Given the description of an element on the screen output the (x, y) to click on. 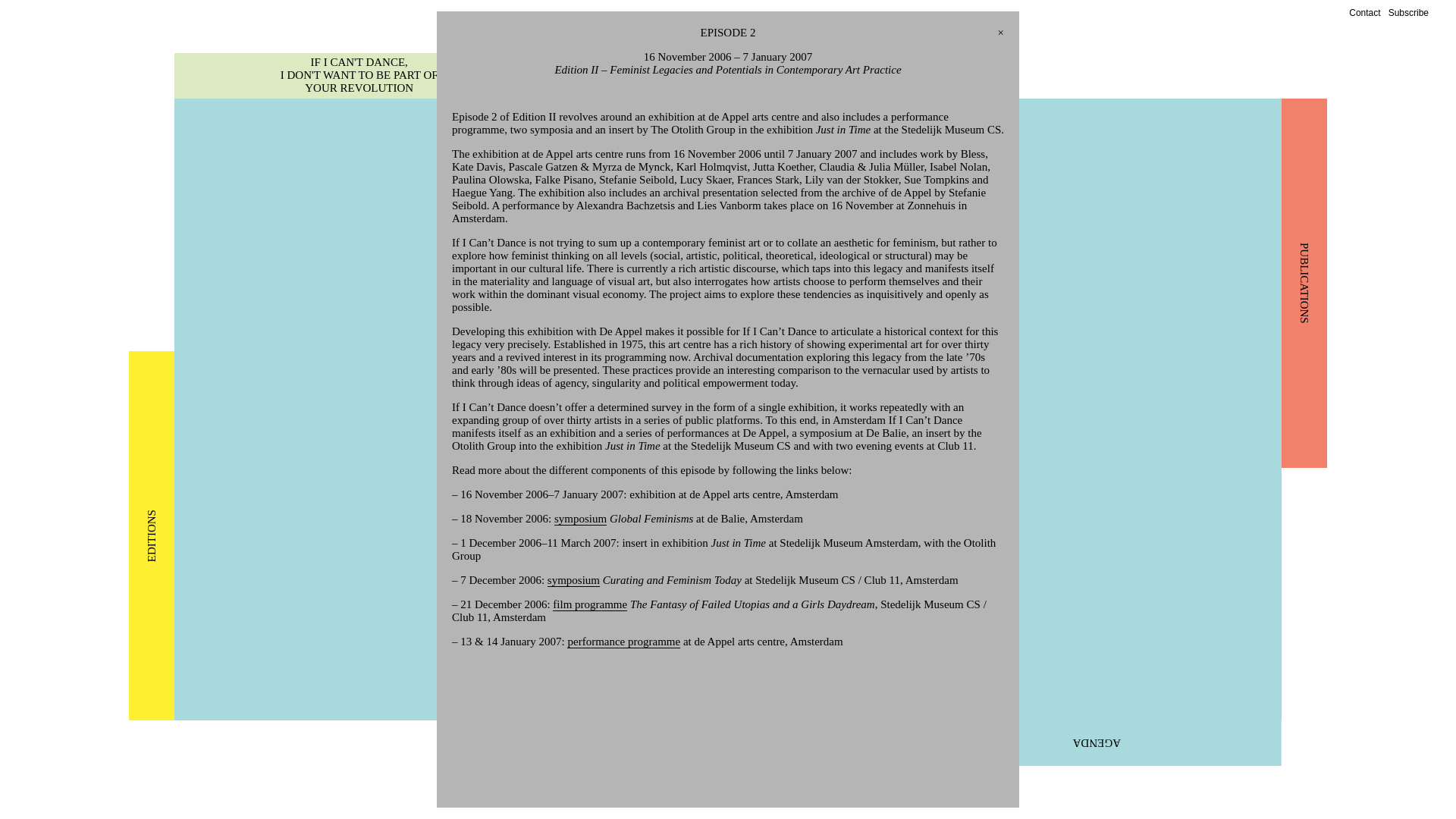
Frances Stark (767, 179)
Stefanie Seibold (718, 198)
Archive (727, 128)
Lucy Skaer (704, 179)
Karl Holmqvist (712, 166)
Bless (972, 153)
Jutta Koether (782, 166)
Haegue Yang (481, 192)
Sue Tompkins (936, 179)
Kate Davis (476, 166)
